Given the description of an element on the screen output the (x, y) to click on. 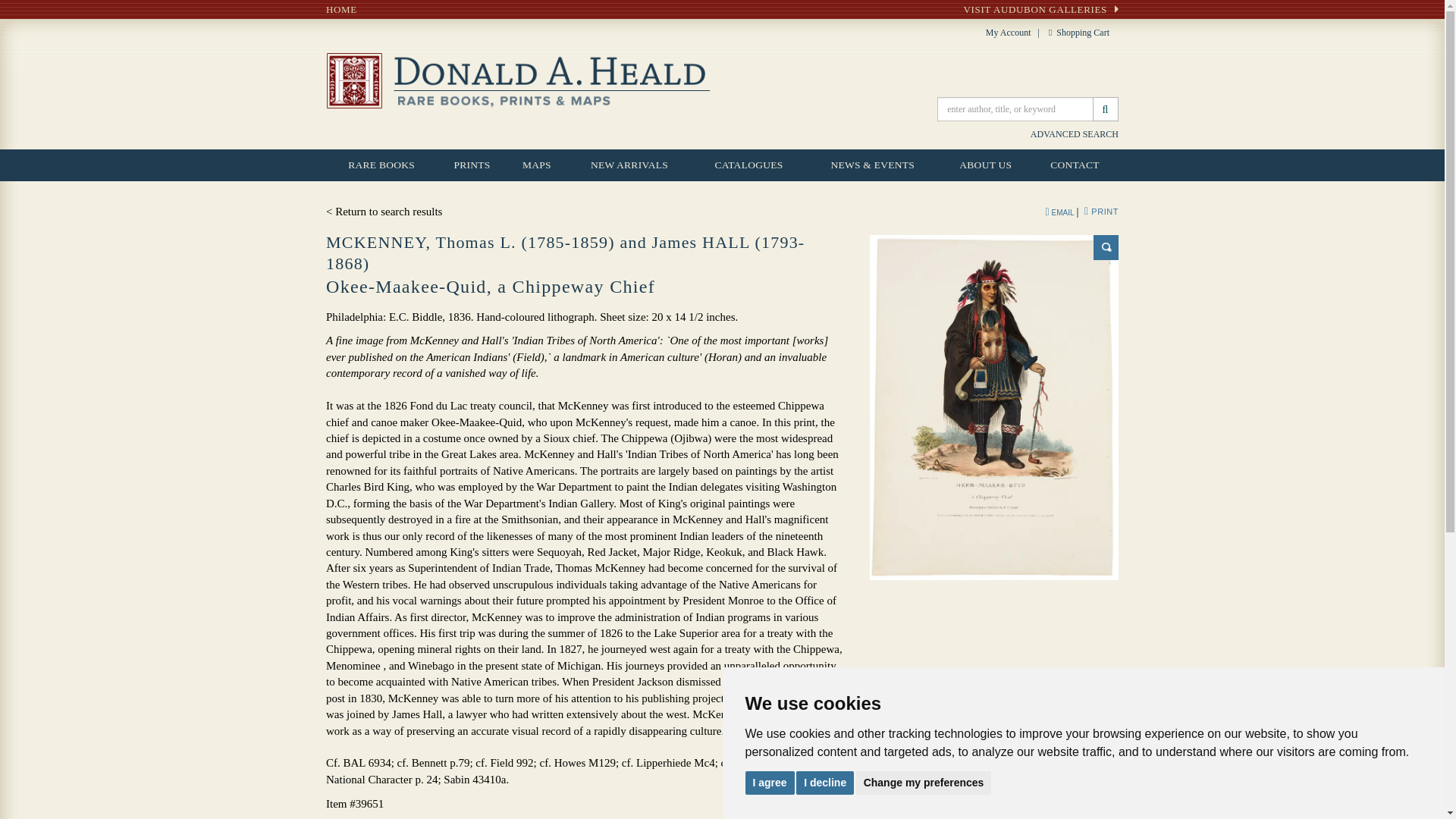
CONTACT (1074, 164)
VISIT AUDUBON GALLERIES (1040, 9)
MAPS (536, 164)
ADVANCED SEARCH (1074, 133)
CATALOGUES (749, 164)
My Account (1007, 32)
Shopping Cart (1081, 32)
PRINTS (471, 164)
RARE BOOKS (381, 164)
Change my preferences (923, 781)
ABOUT US (984, 164)
Skip to main content (8, 7)
I decline (824, 781)
PRINT (1101, 212)
HOME (341, 9)
